Given the description of an element on the screen output the (x, y) to click on. 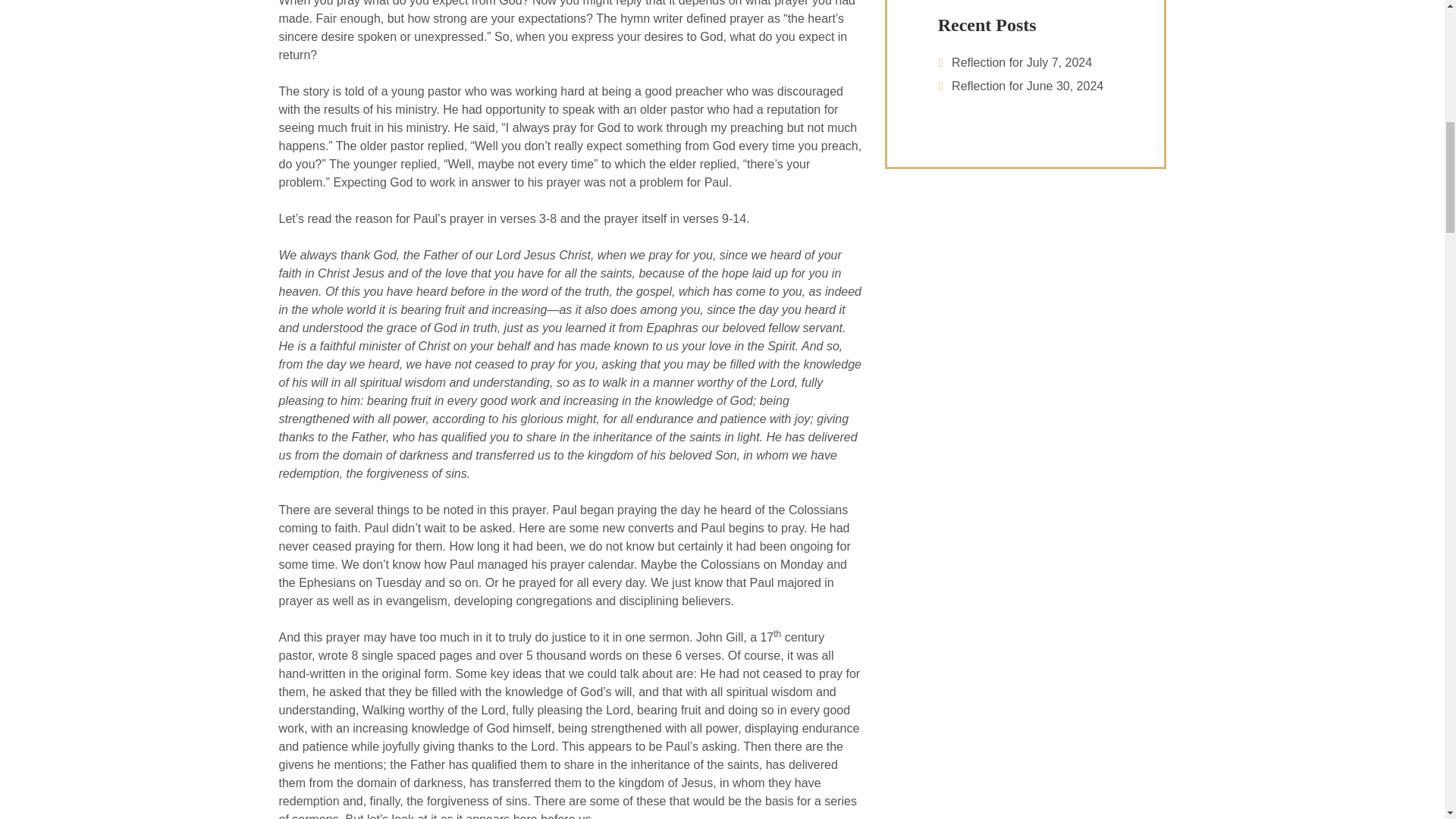
Reflection for June 30, 2024 (1027, 85)
Reflection for July 7, 2024 (1022, 62)
